Given the description of an element on the screen output the (x, y) to click on. 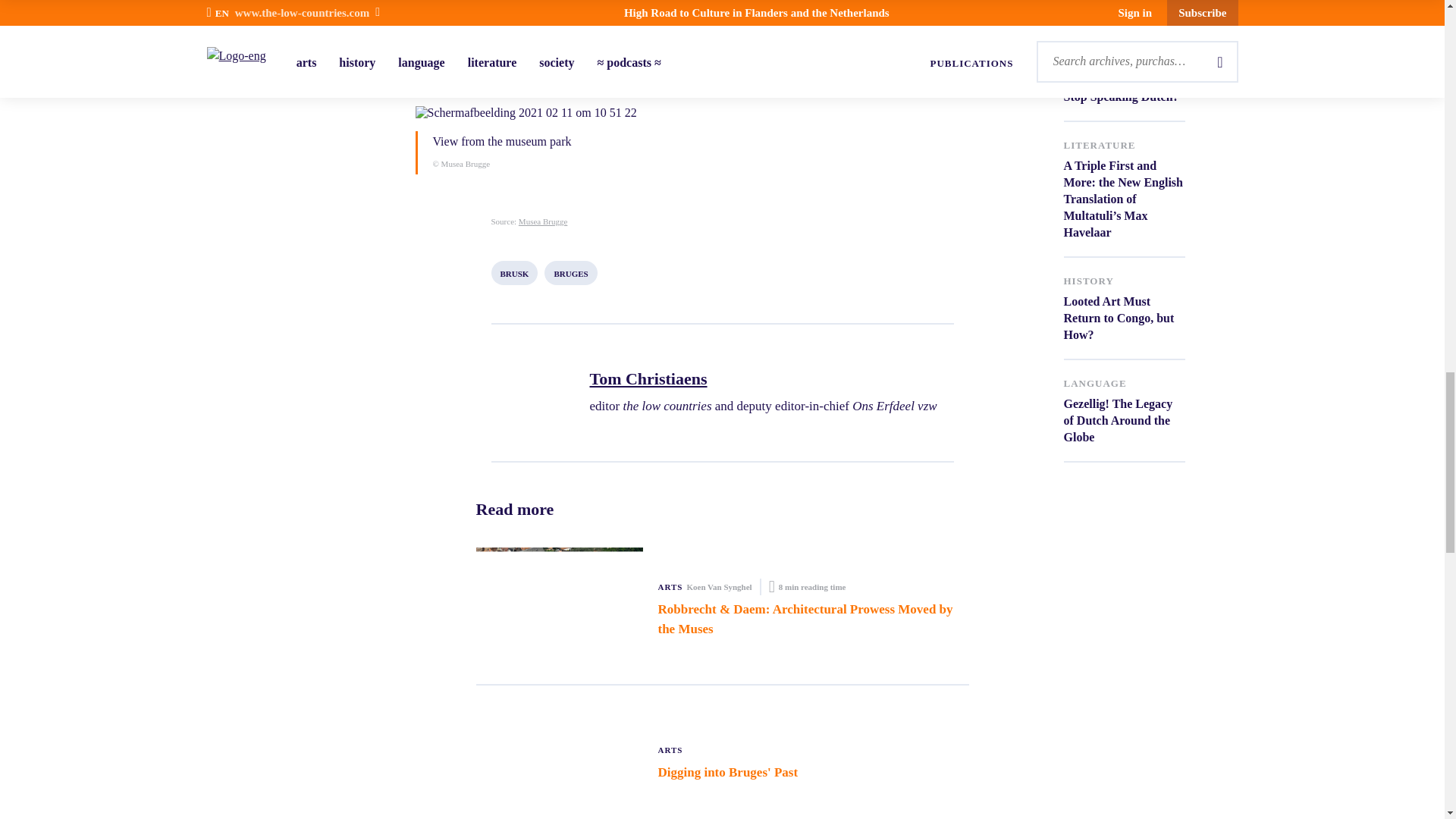
Schermafbeelding 2021 02 11 om 10 51 22 (721, 112)
BRUSK (515, 273)
Musea Brugge (542, 221)
BRUGES (570, 273)
Tom Christiaens (763, 379)
